Given the description of an element on the screen output the (x, y) to click on. 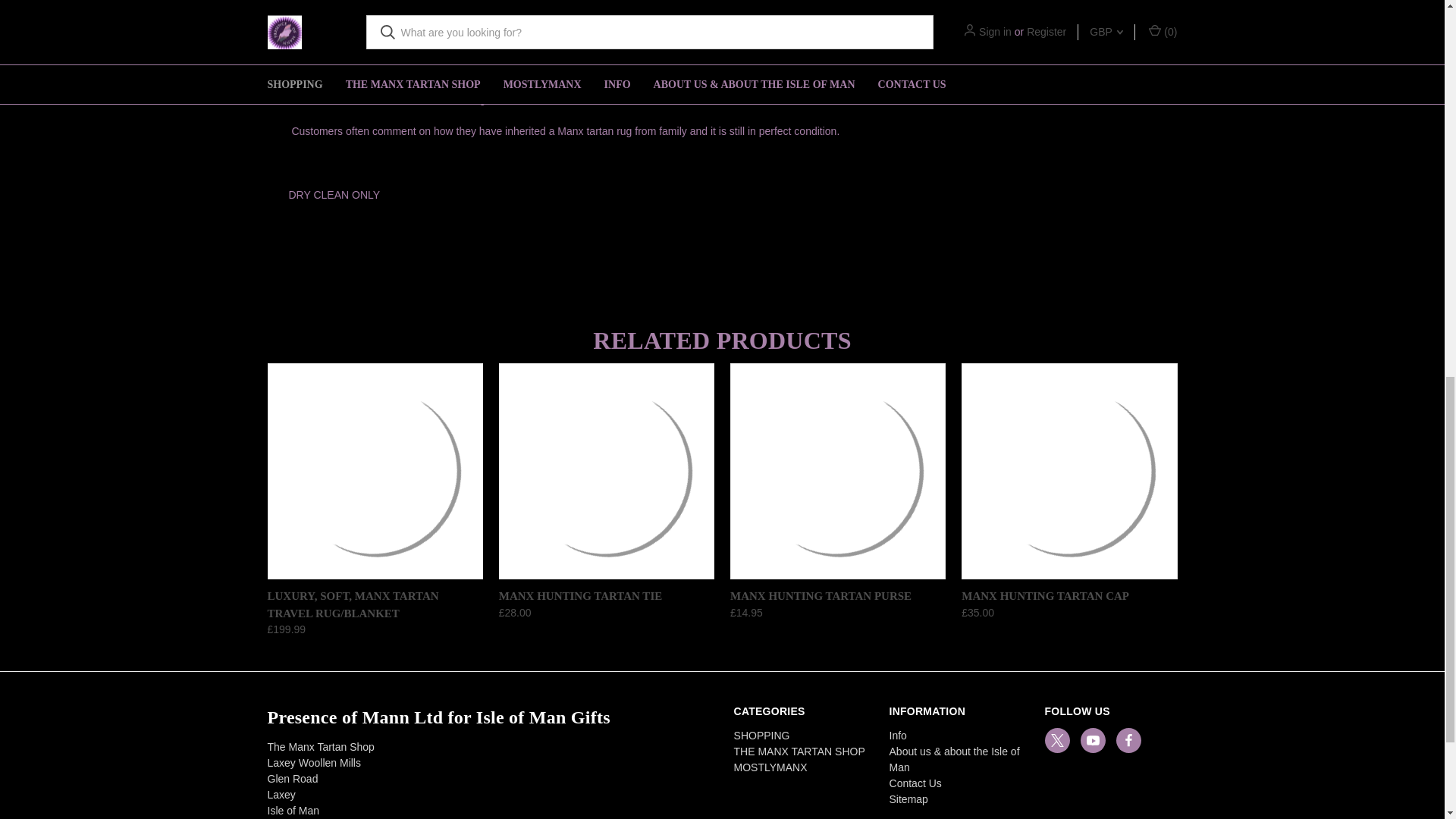
Laxey Manx Tartan Travel Rug (374, 471)
Isle of Man hunting tartan tie (606, 471)
Manx Hunting Tartan Cap (1068, 471)
Manx Hunting Tartan  Purse (837, 471)
